Given the description of an element on the screen output the (x, y) to click on. 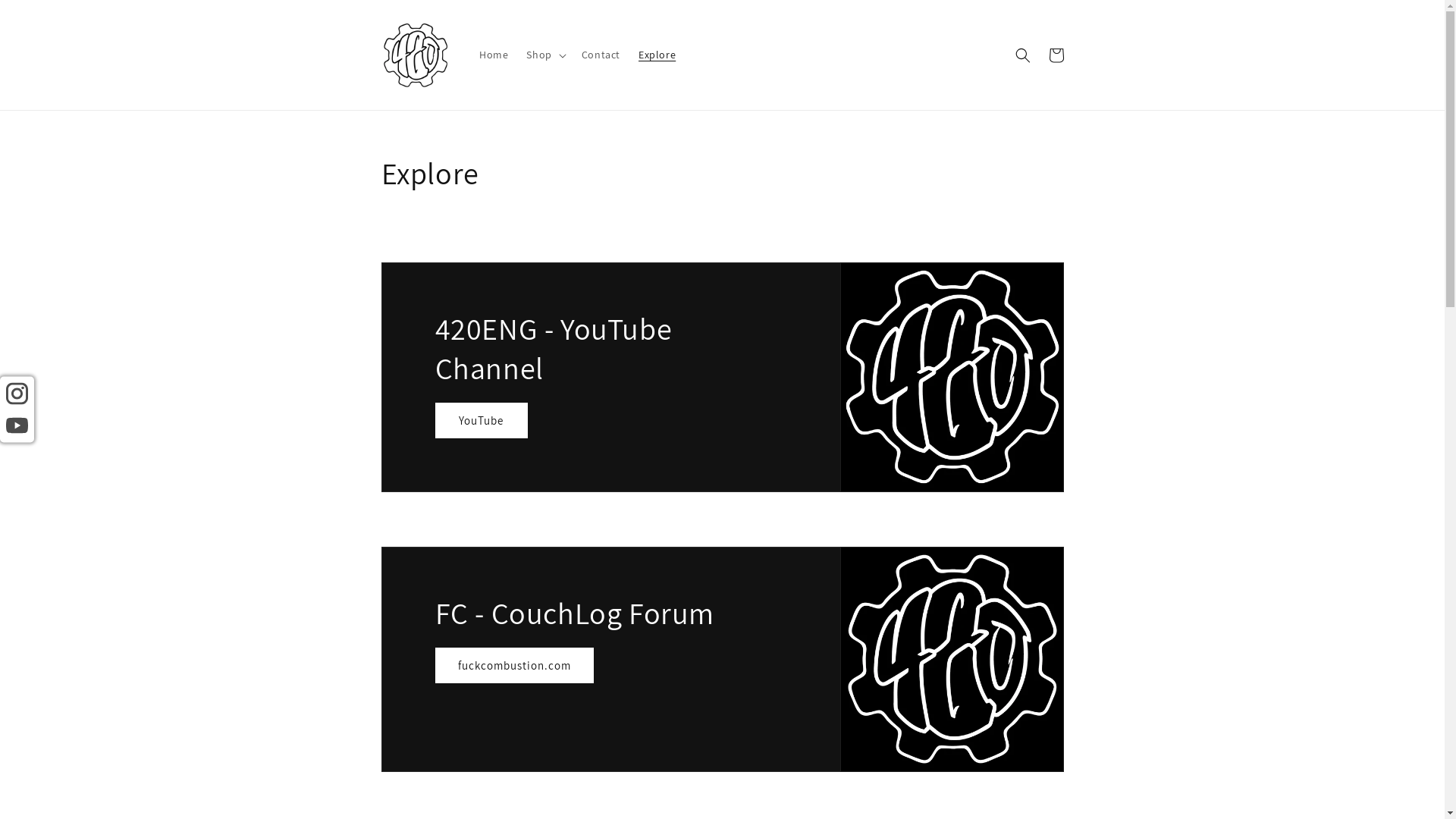
Home Element type: text (493, 54)
YouTube Element type: text (481, 420)
fuckcombustion.com Element type: text (514, 665)
Cart Element type: text (1055, 54)
Contact Element type: text (600, 54)
Explore Element type: text (656, 54)
